Given the description of an element on the screen output the (x, y) to click on. 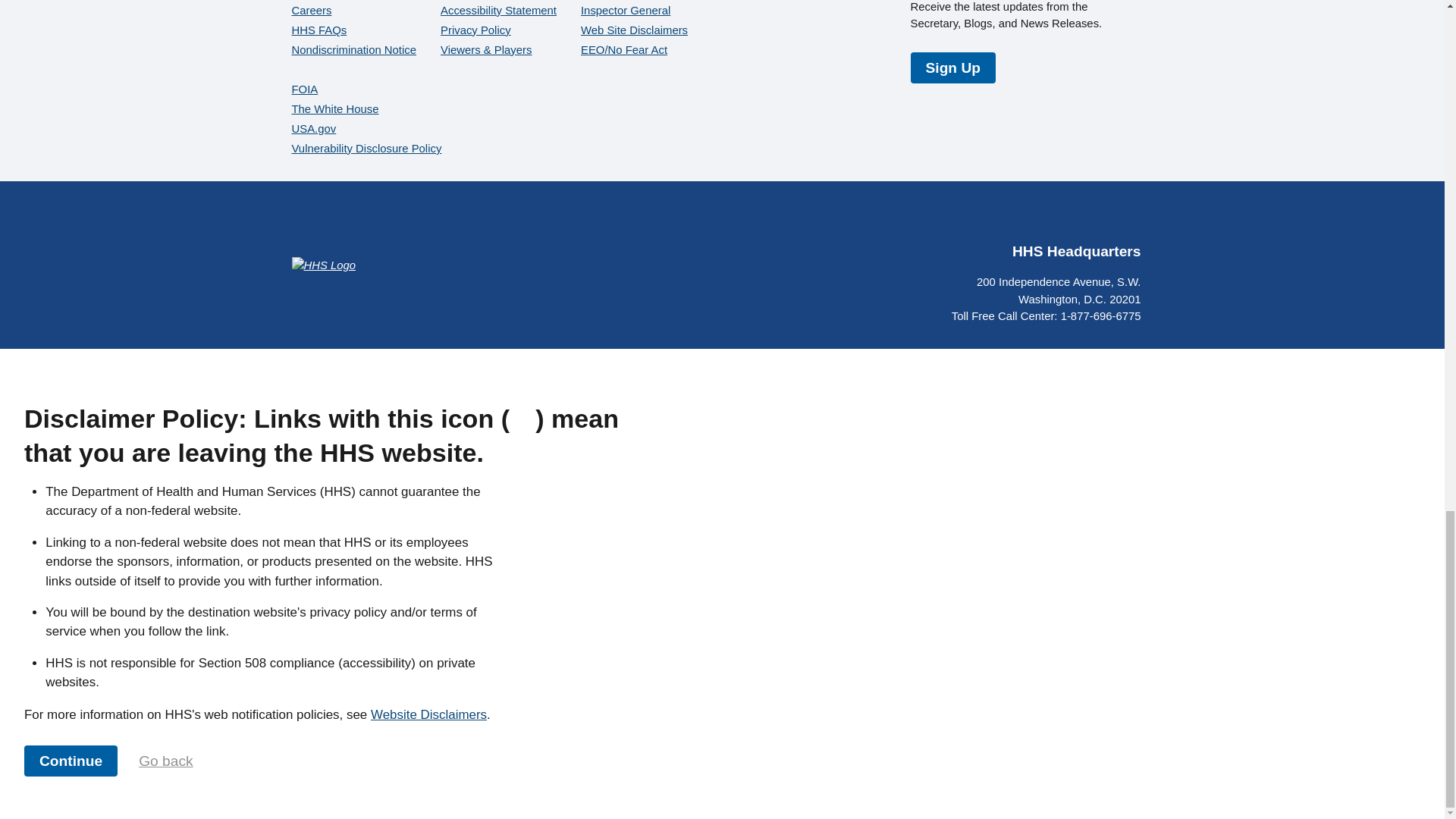
Visit the HHS LinkedIn account (1128, 217)
Visit the HHS Facebook account (982, 217)
Visit the HHS Instagram account (1091, 217)
Visit the HHS YouTube account (1055, 217)
Visit the HHS X account (1018, 217)
